Given the description of an element on the screen output the (x, y) to click on. 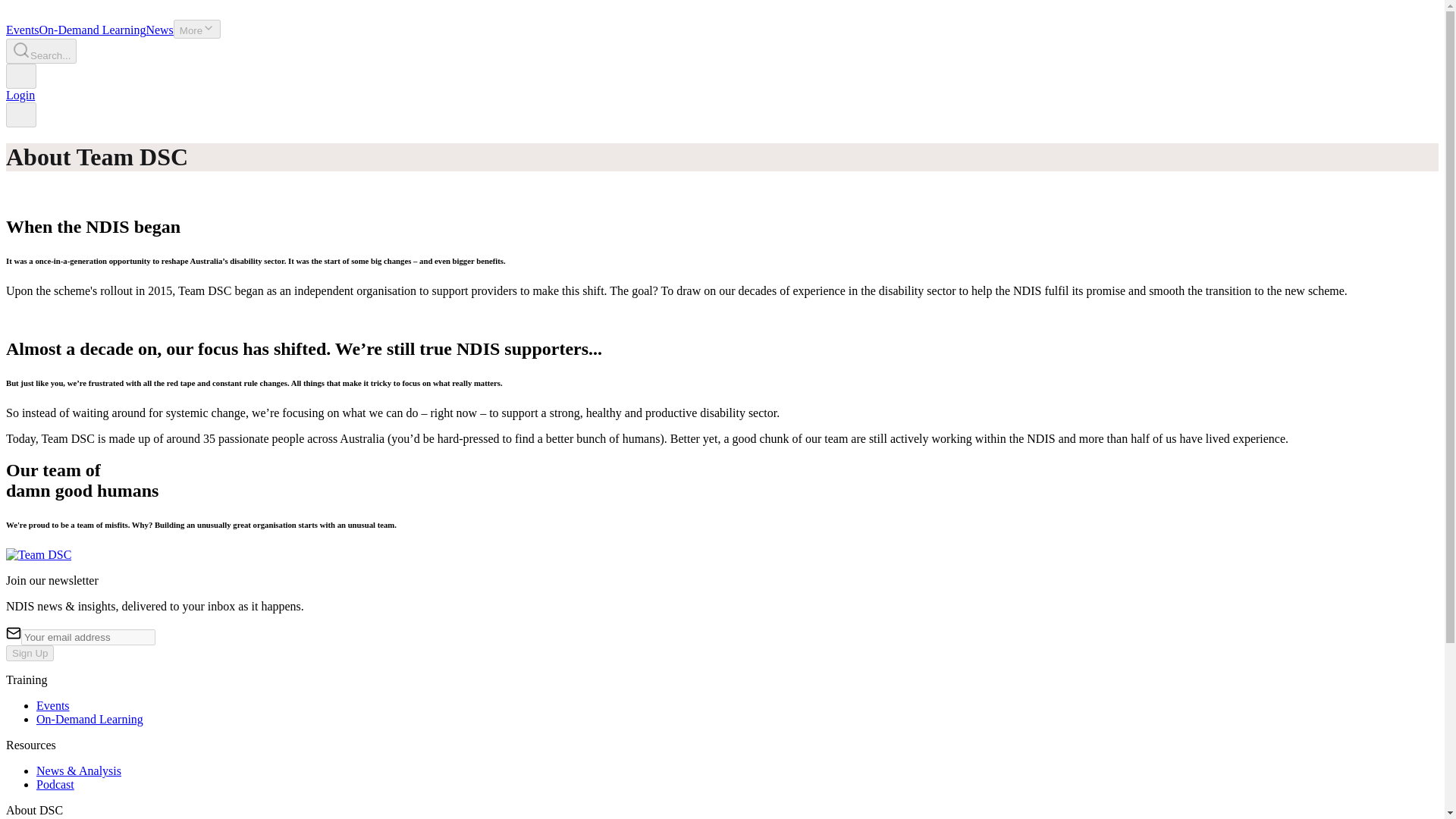
Sign Up (29, 652)
Events (22, 29)
On-Demand Learning (93, 29)
News (159, 29)
Events (22, 29)
Podcast (55, 784)
Sign Up (29, 652)
On-Demand Learning (93, 29)
Team DSC (38, 554)
On-Demand Learning (89, 718)
